Given the description of an element on the screen output the (x, y) to click on. 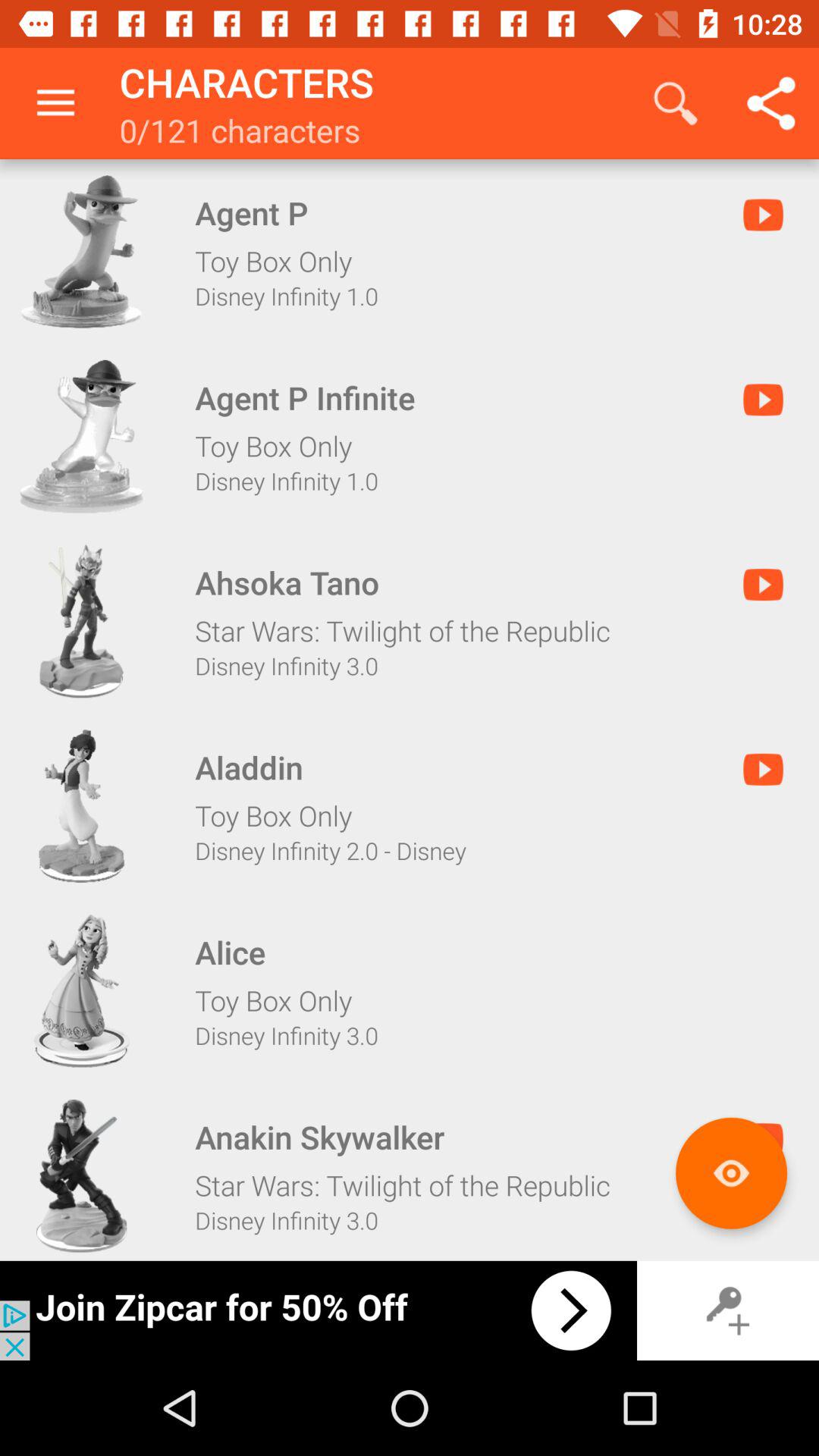
select character (81, 436)
